Given the description of an element on the screen output the (x, y) to click on. 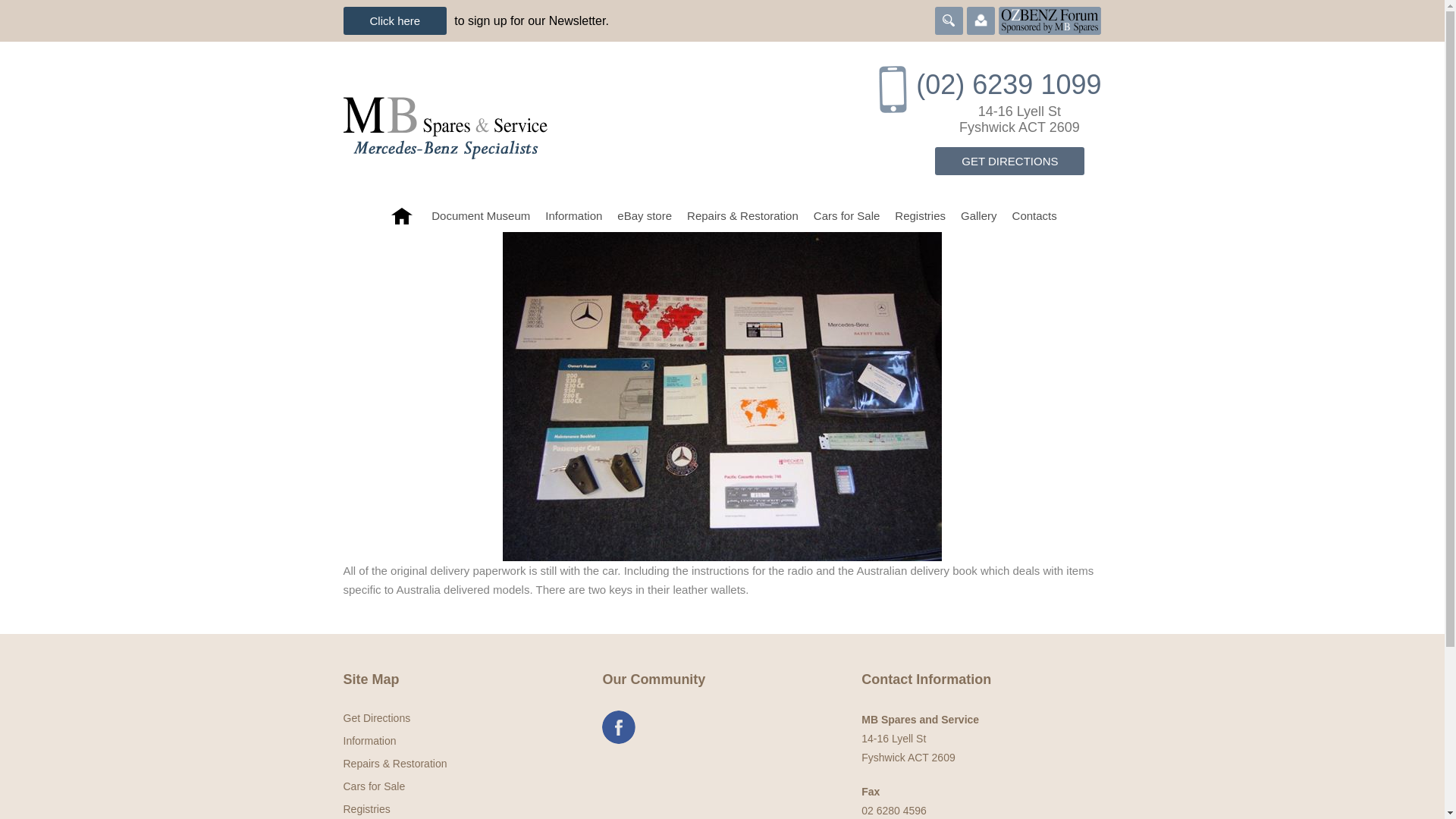
OZBenz Forum (1049, 19)
Get Directions (1009, 161)
Gallery (978, 215)
Click here (394, 20)
Document Museum (480, 215)
Registries (919, 215)
Contacts (1034, 215)
GET DIRECTIONS (1009, 161)
eBay store (644, 215)
Information (573, 215)
Follow Us On Facebook (618, 726)
Click here (394, 20)
Cars for Sale (847, 215)
